Given the description of an element on the screen output the (x, y) to click on. 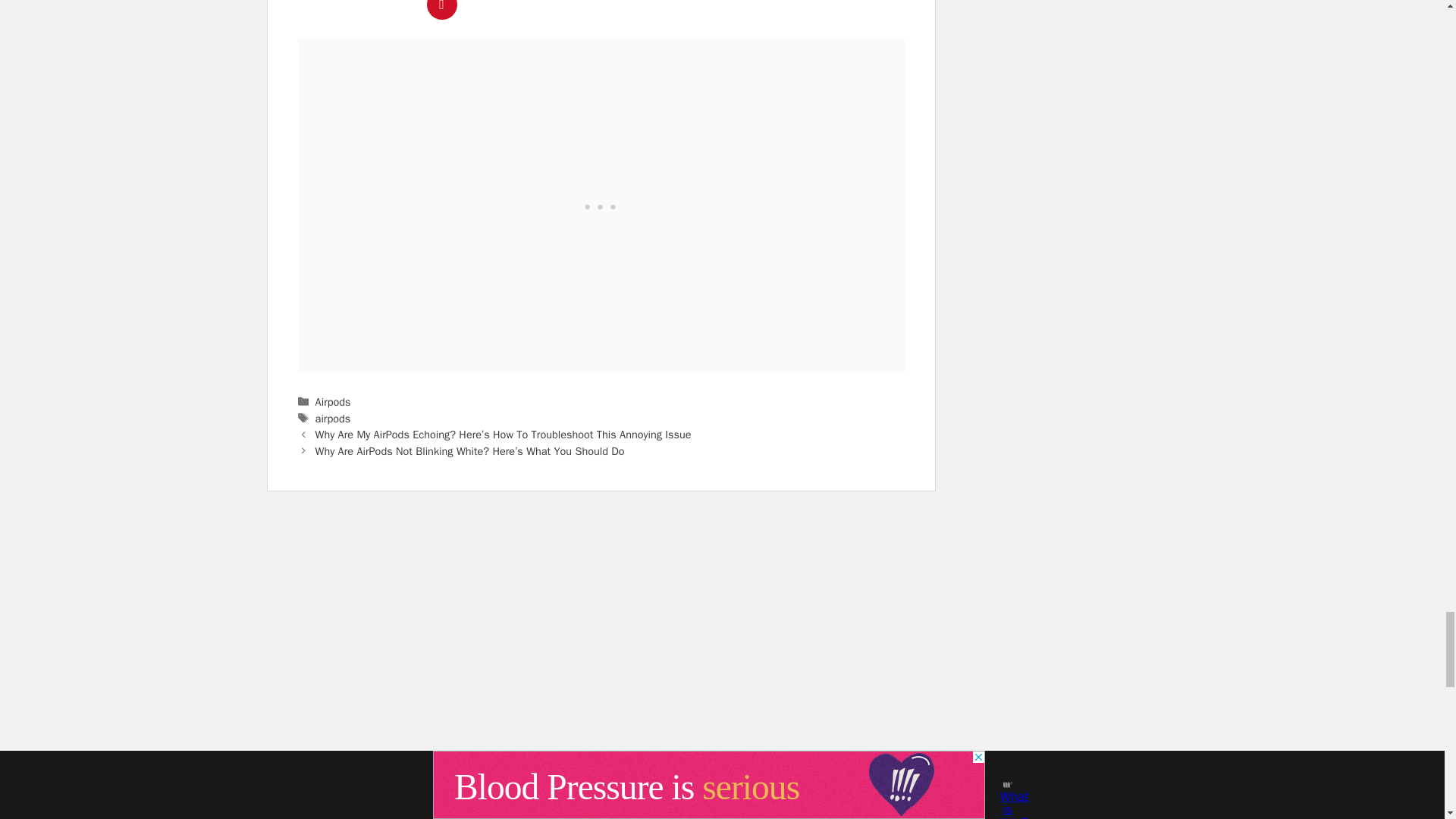
Airpods (332, 401)
airpods (332, 418)
